Given the description of an element on the screen output the (x, y) to click on. 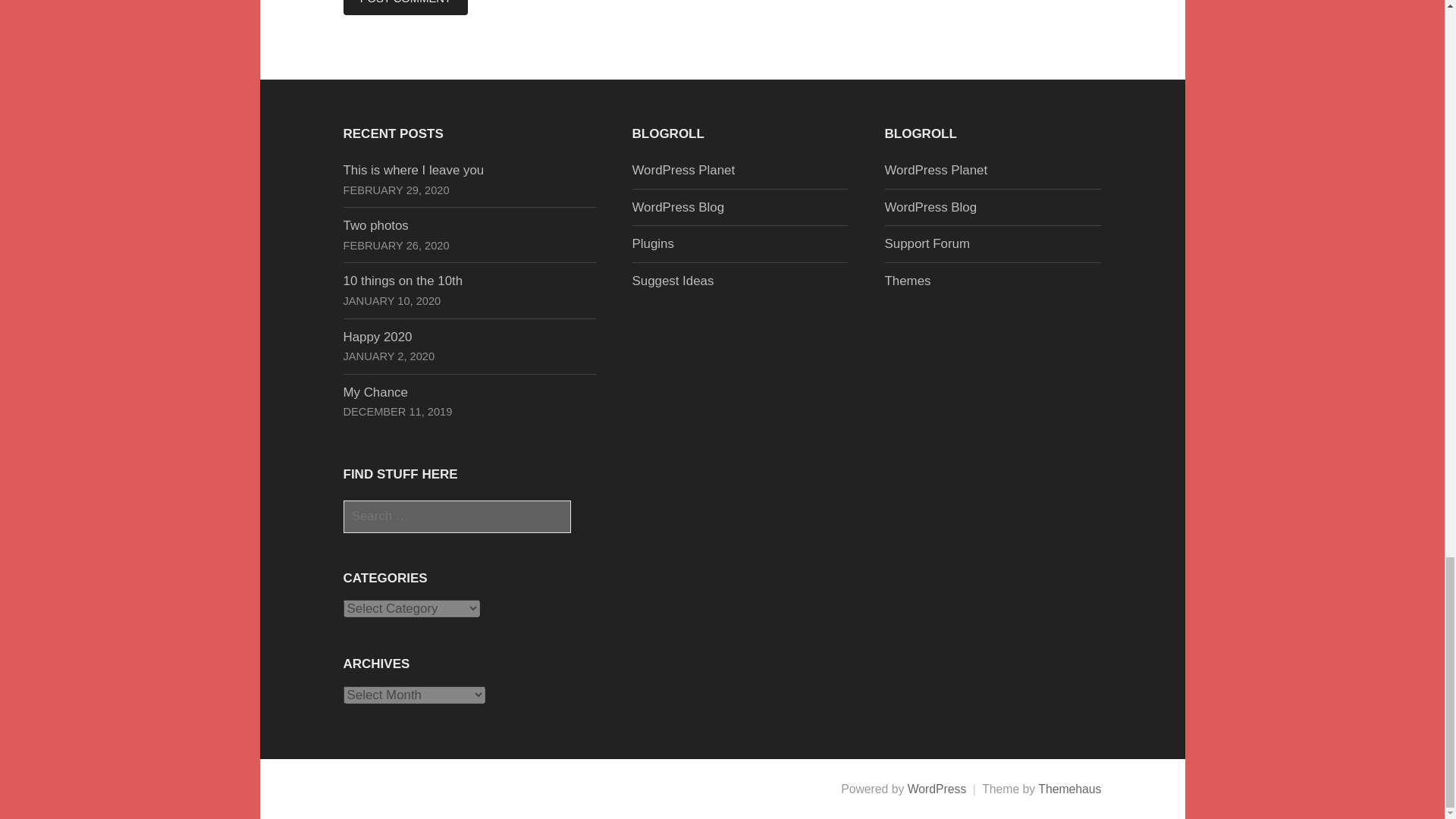
This is where I leave you (412, 169)
Post Comment (404, 7)
Post Comment (404, 7)
